Given the description of an element on the screen output the (x, y) to click on. 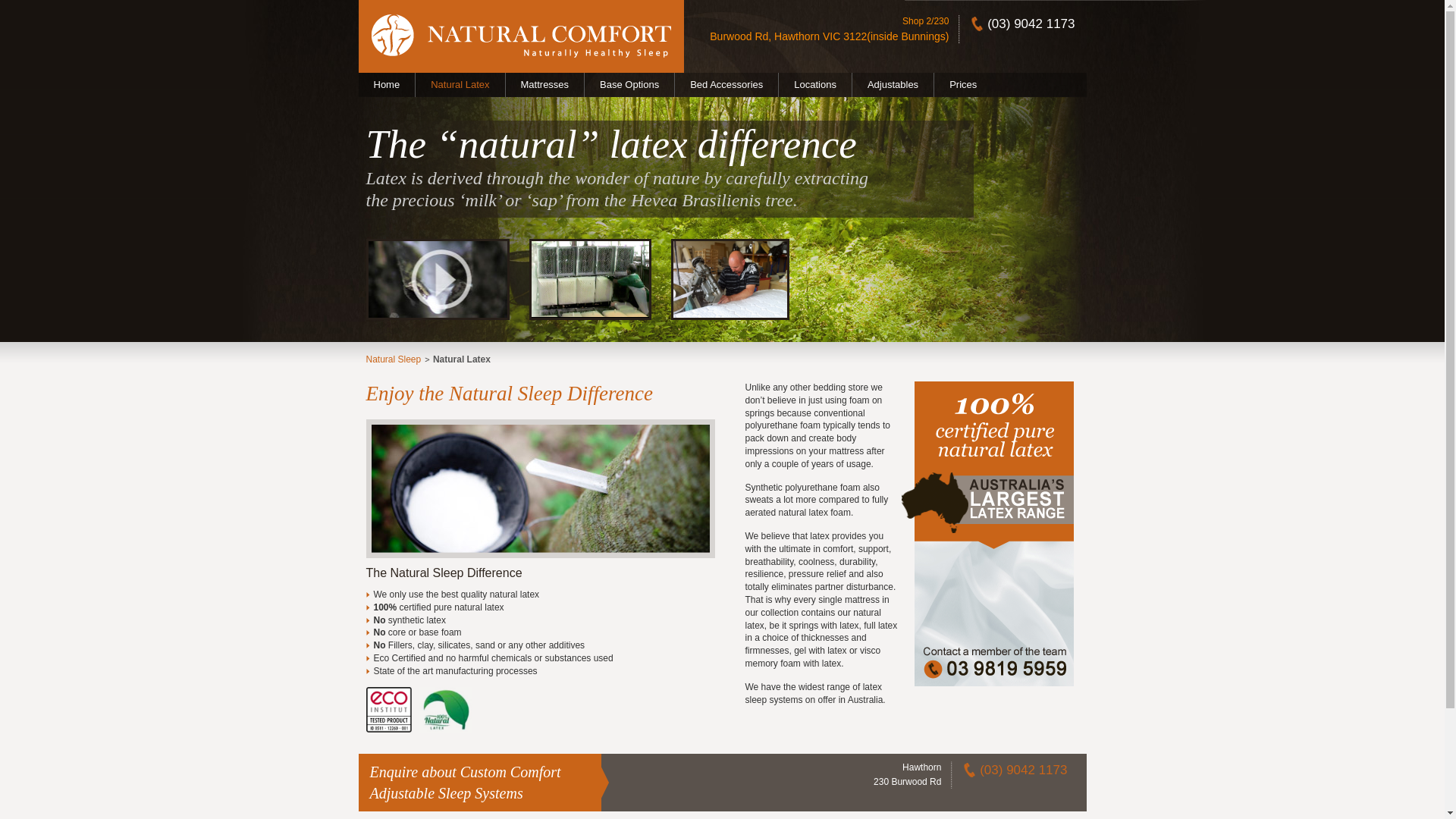
Adjustables Element type: text (893, 84)
Base Options Element type: text (629, 84)
Natural Sleep Element type: text (392, 359)
Contact Us Element type: hover (986, 682)
Locations Element type: text (815, 84)
Mattresses Element type: text (545, 84)
Home Element type: text (386, 84)
Bed Accessories Element type: text (726, 84)
Prices Element type: text (962, 84)
(03) 9042 1173 Element type: text (1022, 769)
Natural Latex Element type: text (460, 84)
